Given the description of an element on the screen output the (x, y) to click on. 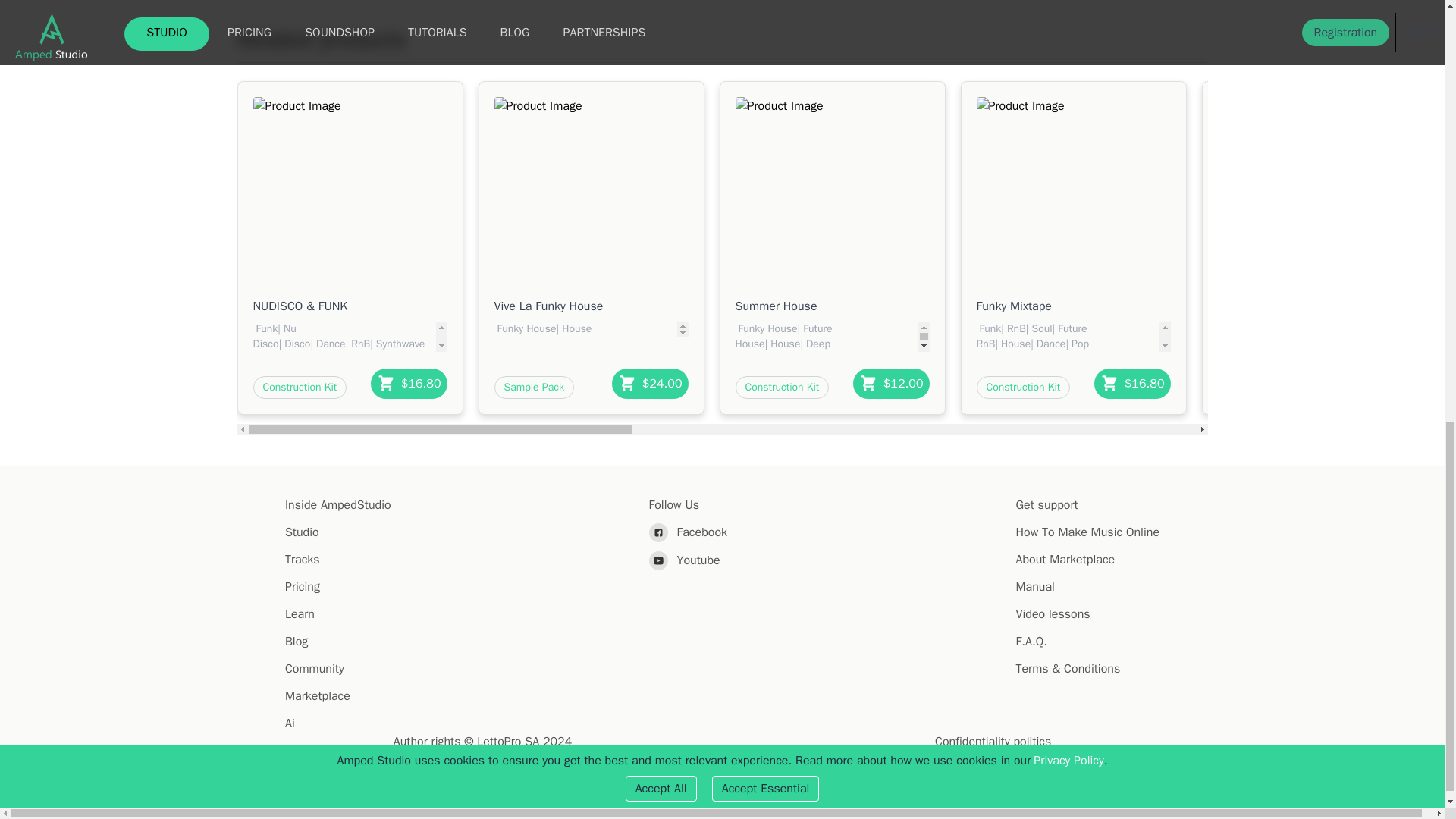
Nu Disco (275, 336)
Disco (295, 343)
Construction Kit (300, 386)
Synthwave (398, 343)
Vive La Funky House (591, 306)
Dance (329, 343)
Funky House (525, 328)
RnB (358, 343)
Funk (265, 328)
